Given the description of an element on the screen output the (x, y) to click on. 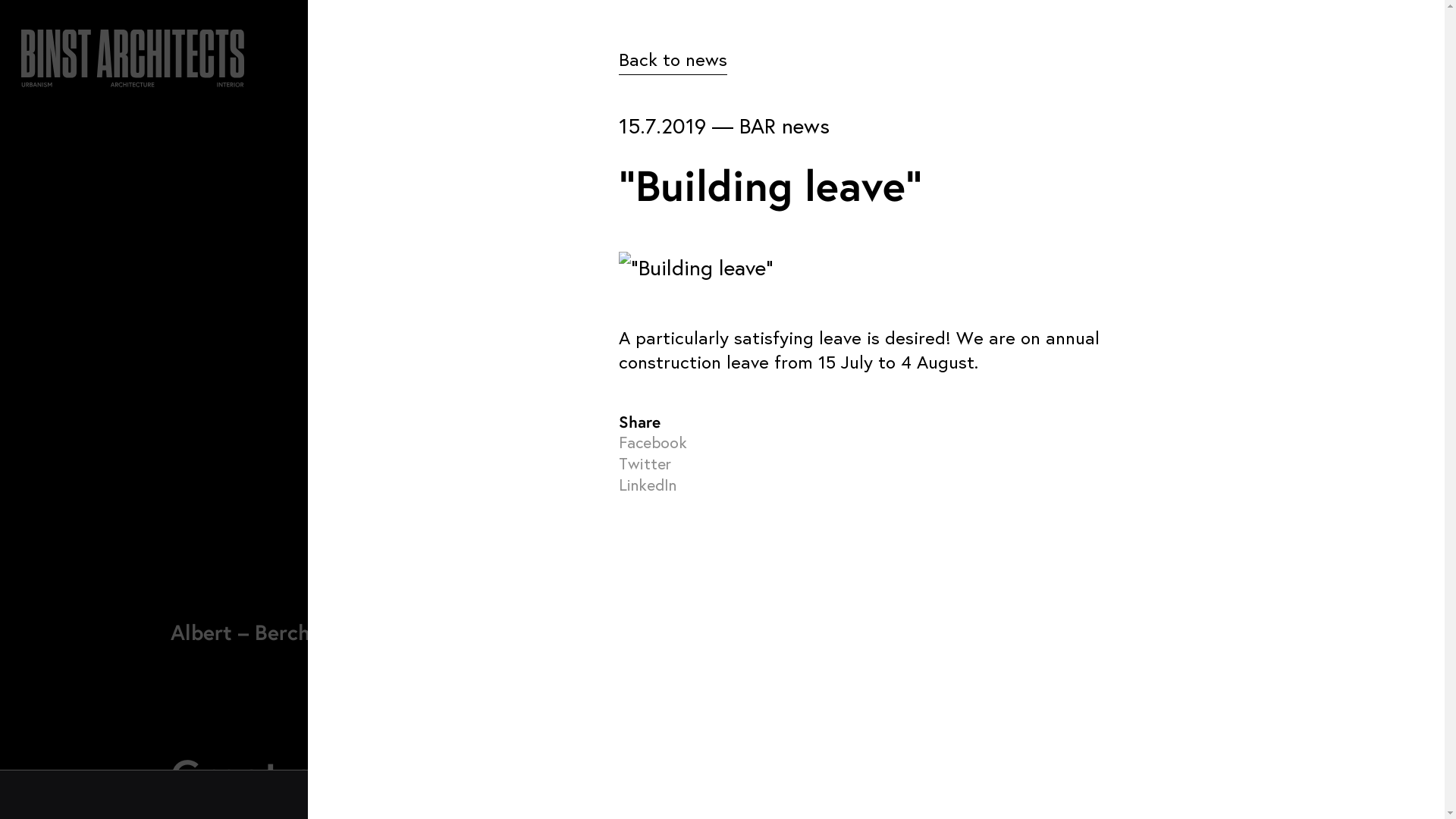
Privacy policy Element type: text (1083, 794)
B scene - Room for Art Element type: text (695, 641)
Ok Element type: text (1021, 794)
Projects Element type: text (410, 682)
B brand - Design studio Element type: text (697, 602)
No Element type: hover (1436, 794)
+32 (0)3 213 61 61 Element type: text (960, 520)
Privacy & Cookie policy Element type: text (137, 670)
Architecture Vision Element type: text (447, 522)
Magazines Element type: text (419, 602)
Facebook Element type: text (652, 441)
BINST ARCHITECTS-Logo+tagline-white Element type: text (132, 53)
LinkedIn Element type: text (647, 484)
Disclaimer Element type: text (44, 670)
Twitter Element type: text (644, 462)
BINST ARCHITECTS-Logo+tagline-white Element type: text (134, 544)
B 7 - Be our guest Element type: text (677, 562)
Awards Element type: text (408, 562)
mail@binstarchitects.be Element type: text (981, 555)
NL Element type: text (1242, 69)
Jobs Element type: text (398, 641)
EN Element type: text (1278, 69)
Great architecture Element type: text (350, 774)
